Given the description of an element on the screen output the (x, y) to click on. 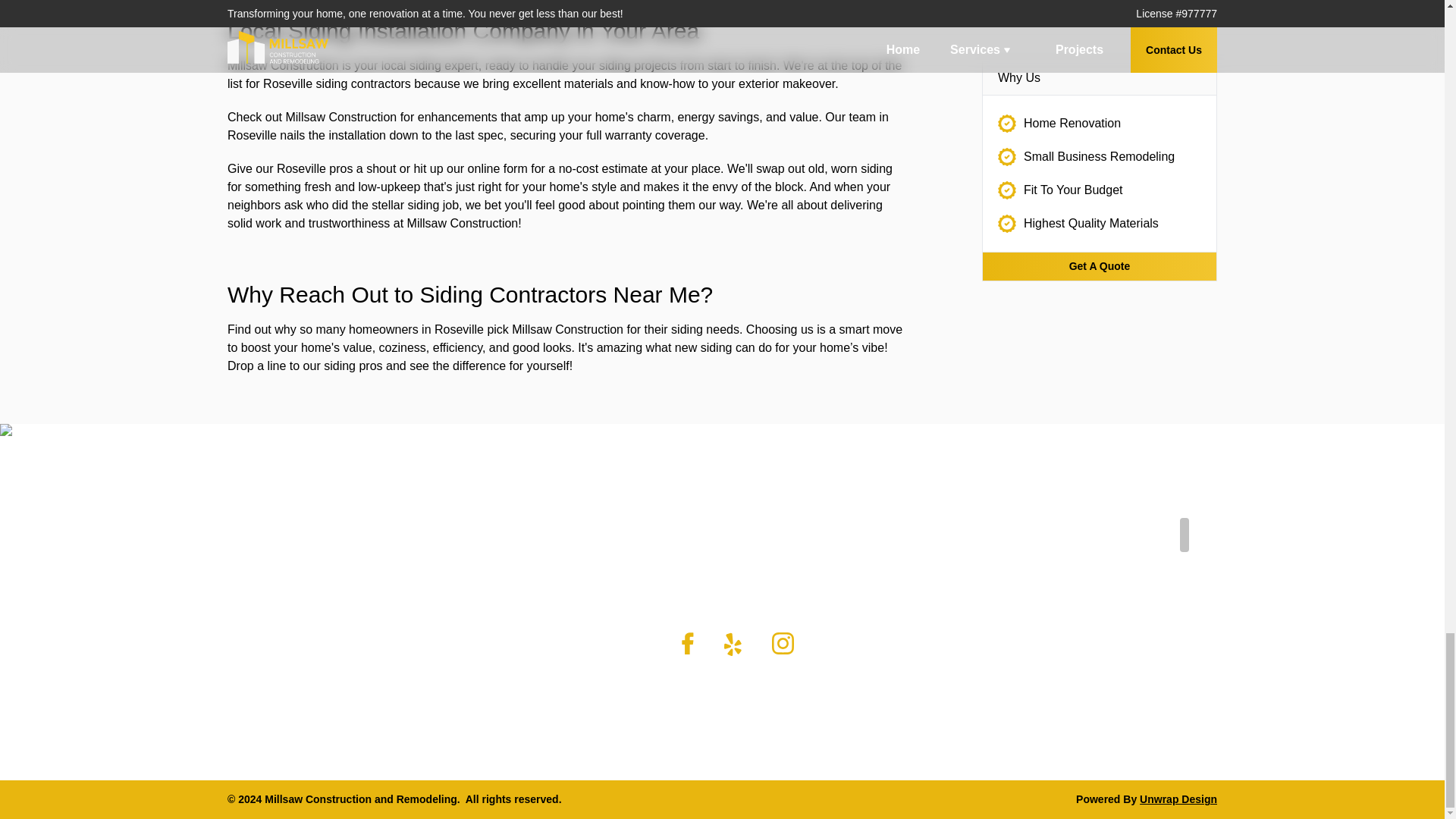
Roseville CA (1091, 562)
Rocklin CA (1086, 581)
Unwrap Design (1178, 799)
Lincoln CA (1086, 526)
Sacramento CA (1099, 544)
Locations Served (1122, 508)
